Given the description of an element on the screen output the (x, y) to click on. 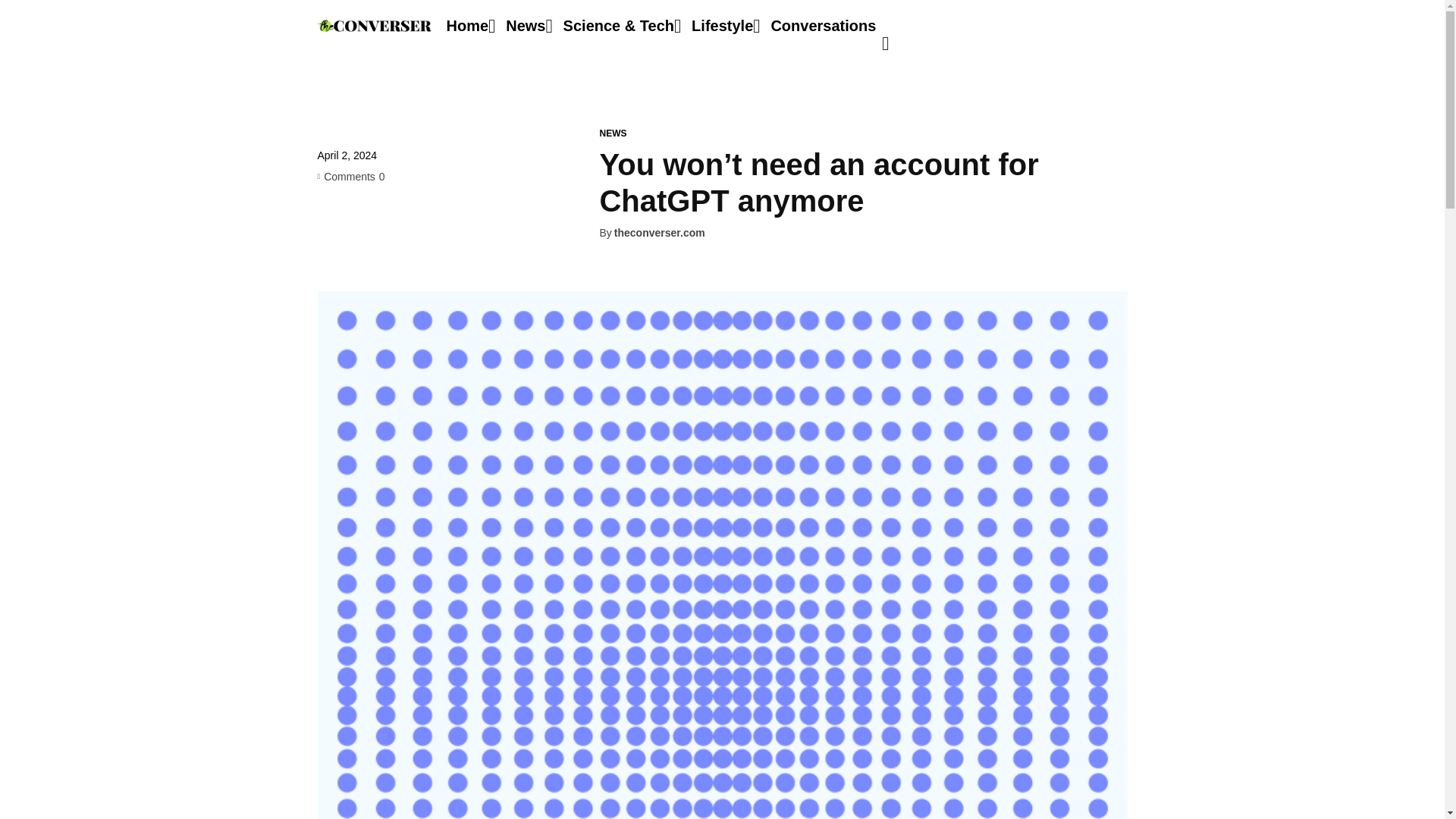
Facebook (332, 234)
WhatsApp (436, 234)
News (524, 25)
Home (466, 25)
NEWS (612, 132)
Lifestyle (721, 25)
Conversations (823, 25)
Twitter (366, 234)
Pinterest (401, 234)
theconverser.com (659, 232)
Comments0 (350, 175)
